Given the description of an element on the screen output the (x, y) to click on. 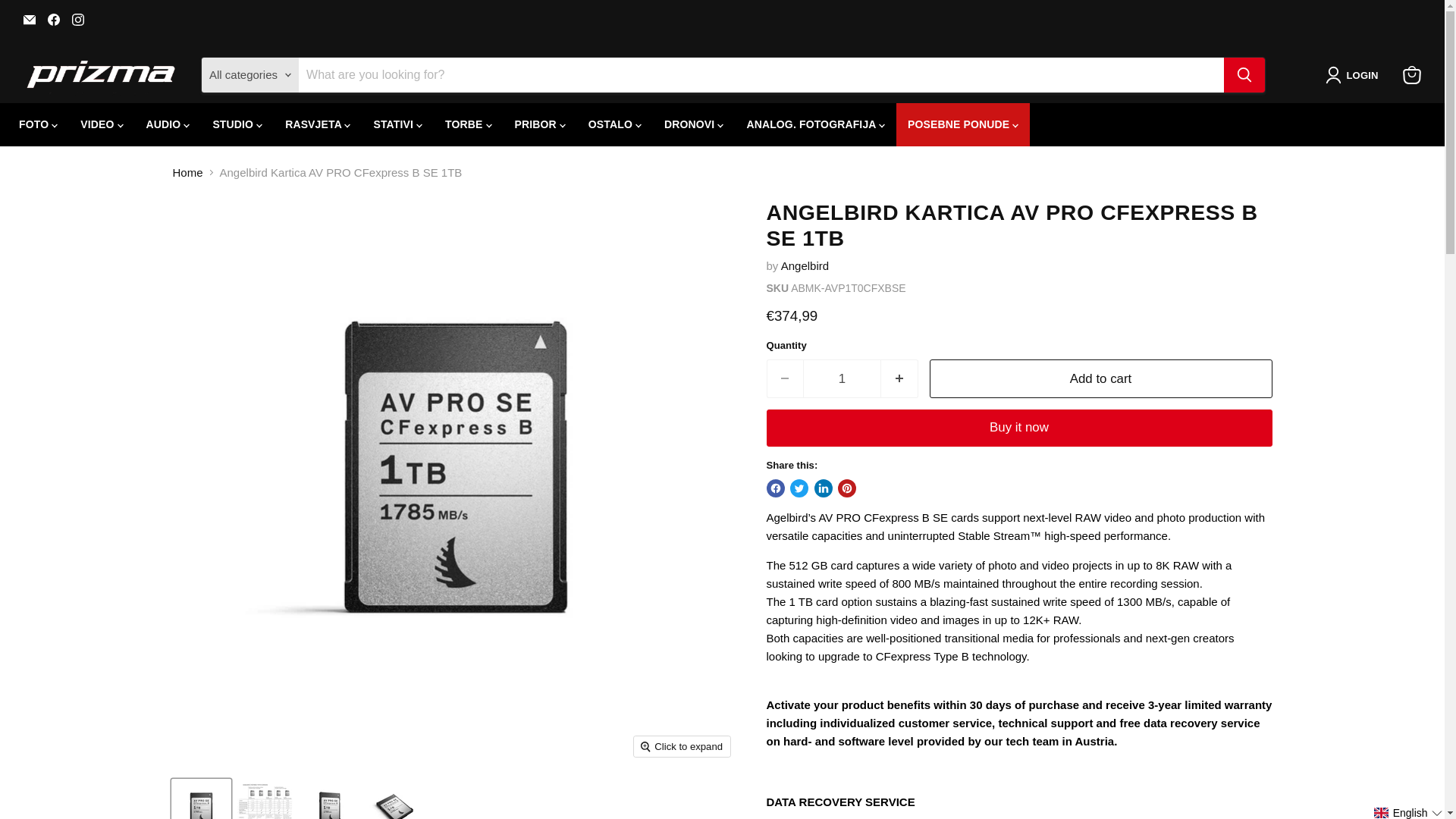
1 (841, 378)
Find us on Facebook (53, 19)
Find us on Instagram (77, 19)
View cart (1411, 74)
Instagram (77, 19)
Facebook (53, 19)
Email (29, 19)
Angelbird (804, 265)
LOGIN (1354, 75)
Email Prizma-Foto (29, 19)
